Given the description of an element on the screen output the (x, y) to click on. 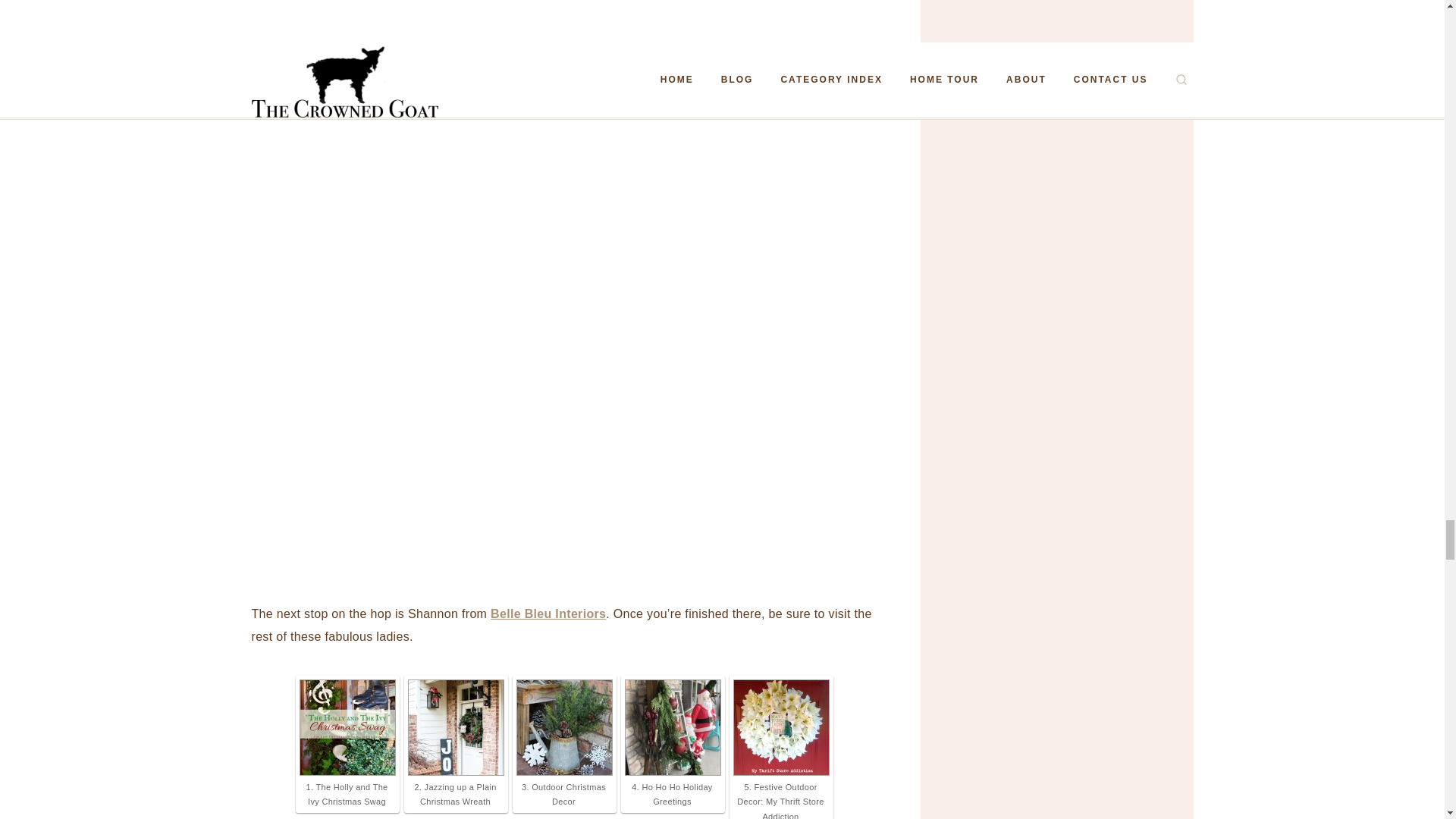
3. Outdoor Christmas Decor (563, 794)
2. Jazzing up a Plain Christmas Wreath (454, 794)
Belle Bleu Interiors (547, 613)
1. The Holly and The Ivy Christmas Swag (346, 794)
